Given the description of an element on the screen output the (x, y) to click on. 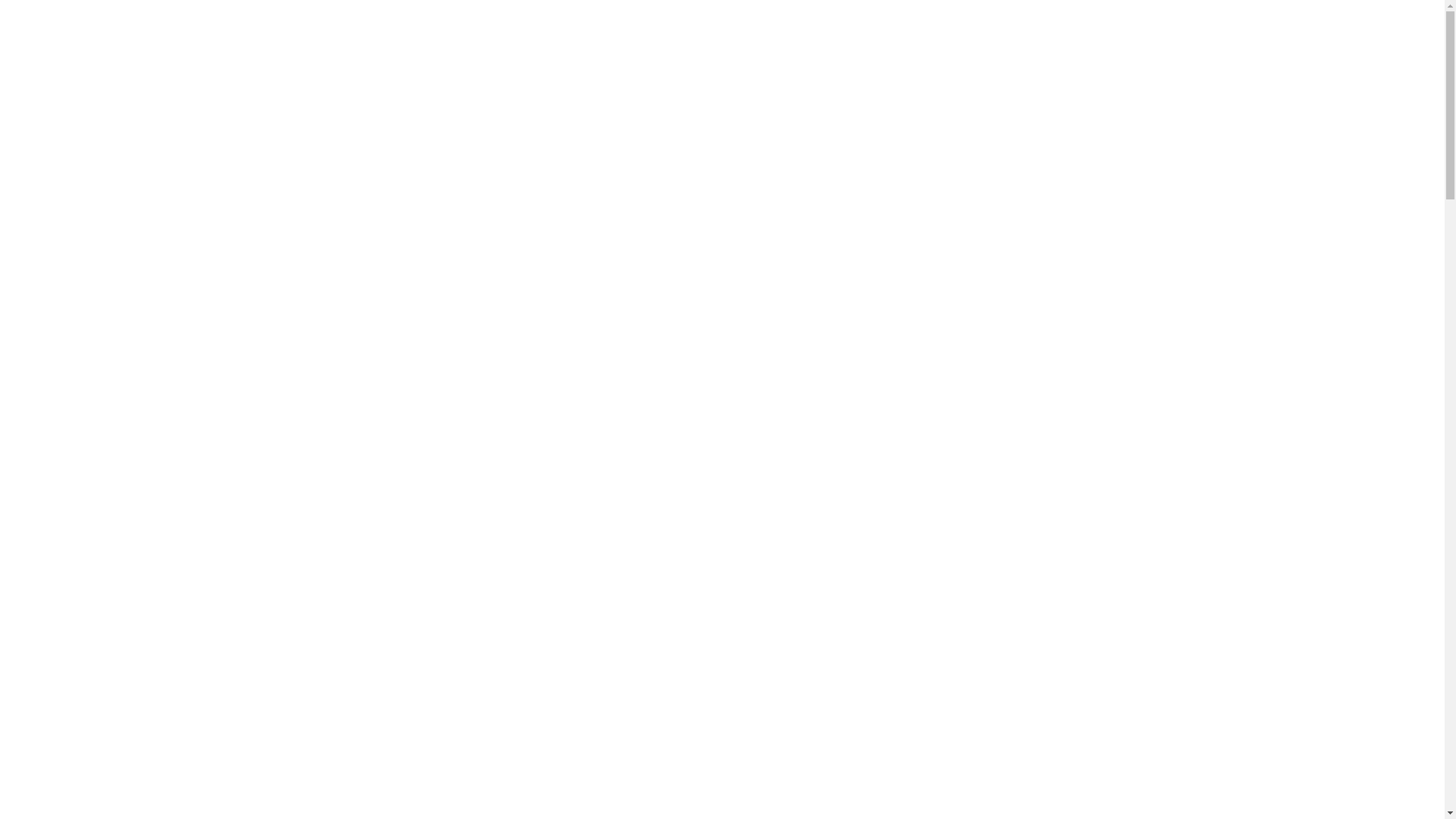
Services Element type: text (669, 57)
Contact Element type: text (861, 57)
